Given the description of an element on the screen output the (x, y) to click on. 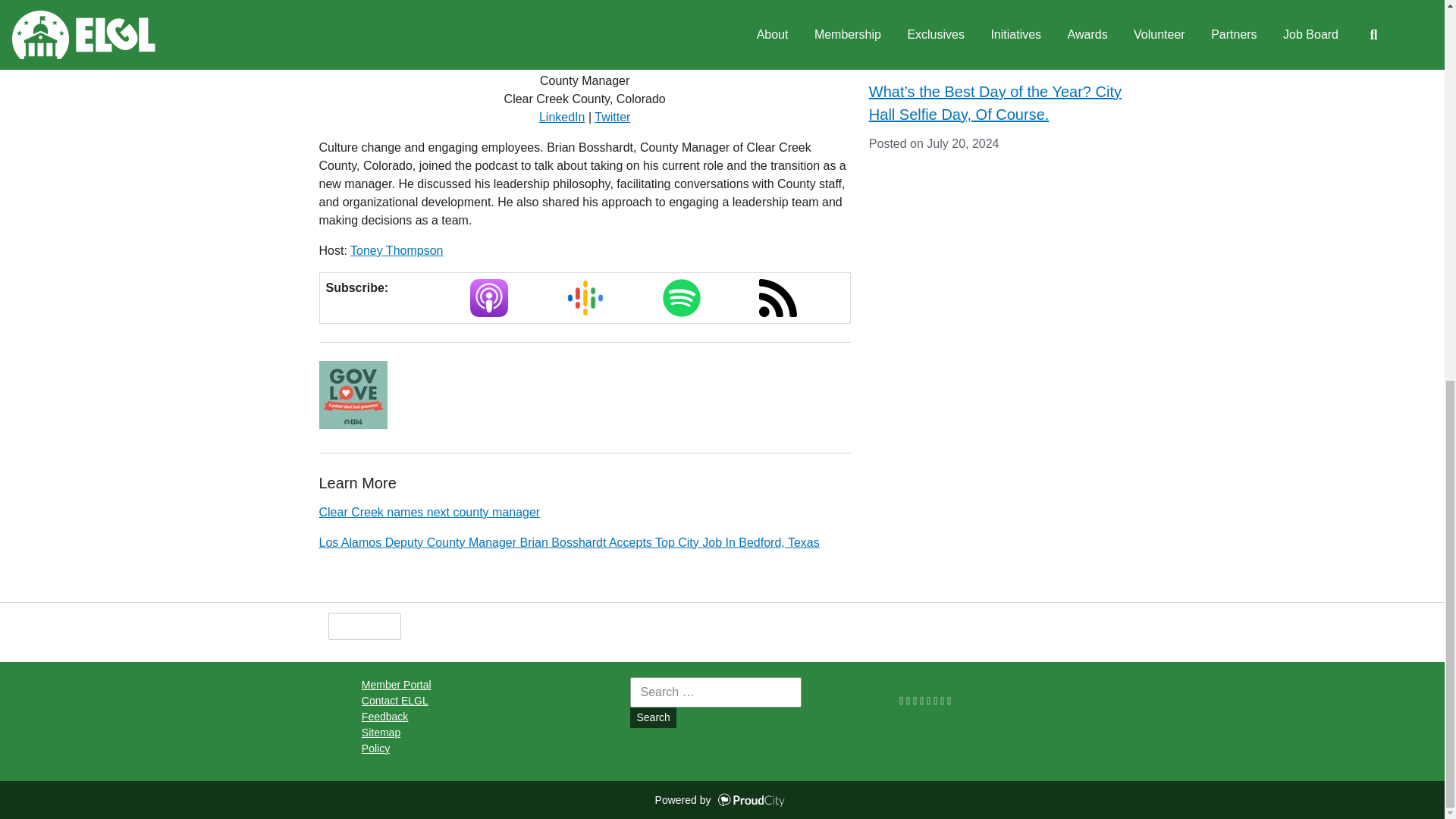
Clear Creek names next county manager (429, 512)
Search (652, 717)
Size (504, 626)
Helpful (364, 625)
LinkedIn (561, 116)
Share (436, 626)
Search (652, 717)
Toney Thompson (396, 250)
Translate (580, 626)
Twitter (612, 116)
This page makes me proud (364, 625)
Libsyn Player (584, 395)
